Given the description of an element on the screen output the (x, y) to click on. 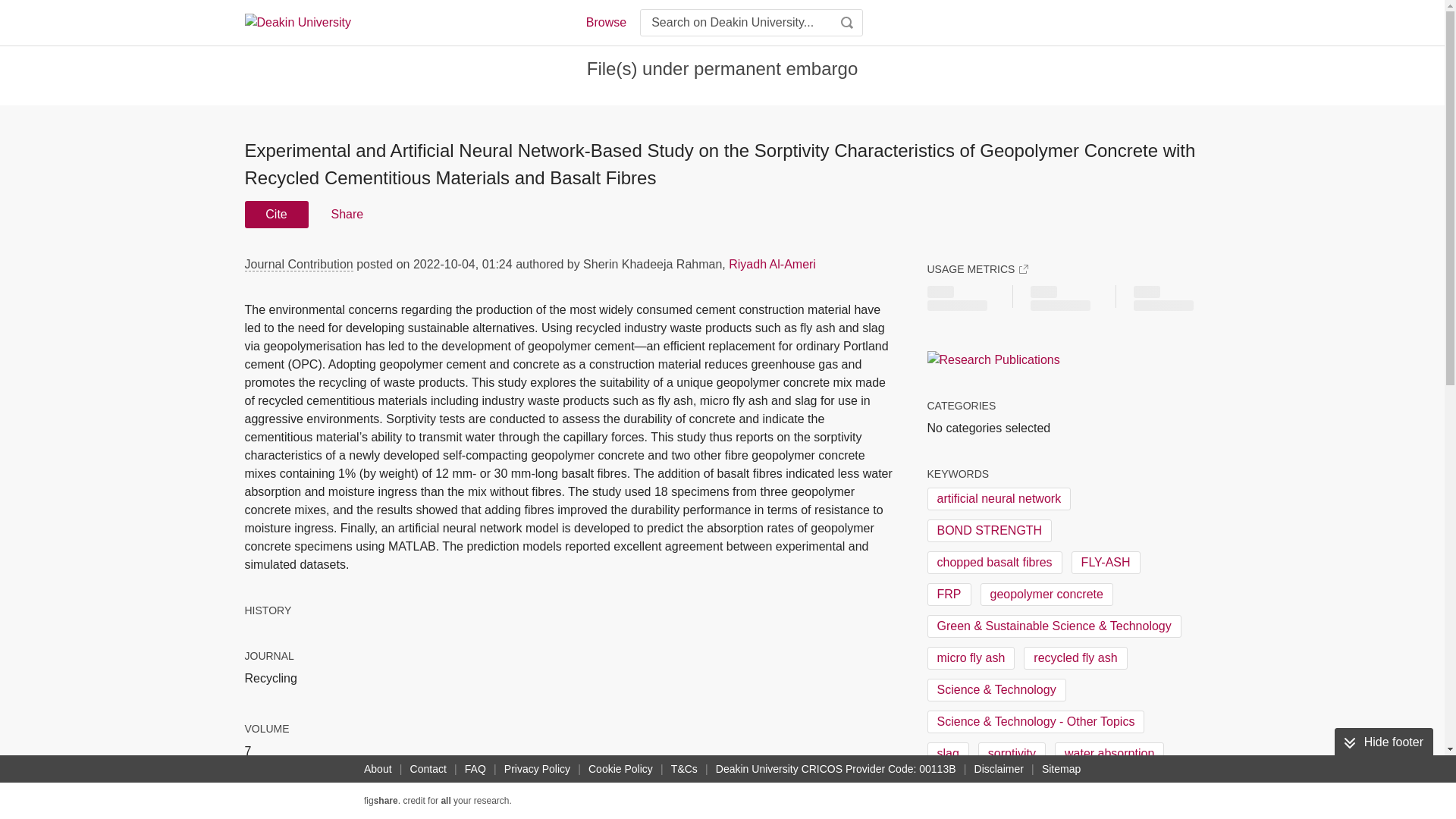
Privacy Policy (537, 769)
Contact (428, 769)
artificial neural network (998, 498)
Share (346, 214)
USAGE METRICS (976, 268)
Riyadh Al-Ameri (772, 264)
slag (947, 753)
BOND STRENGTH (988, 530)
geopolymer concrete (1045, 594)
chopped basalt fibres (993, 562)
